Given the description of an element on the screen output the (x, y) to click on. 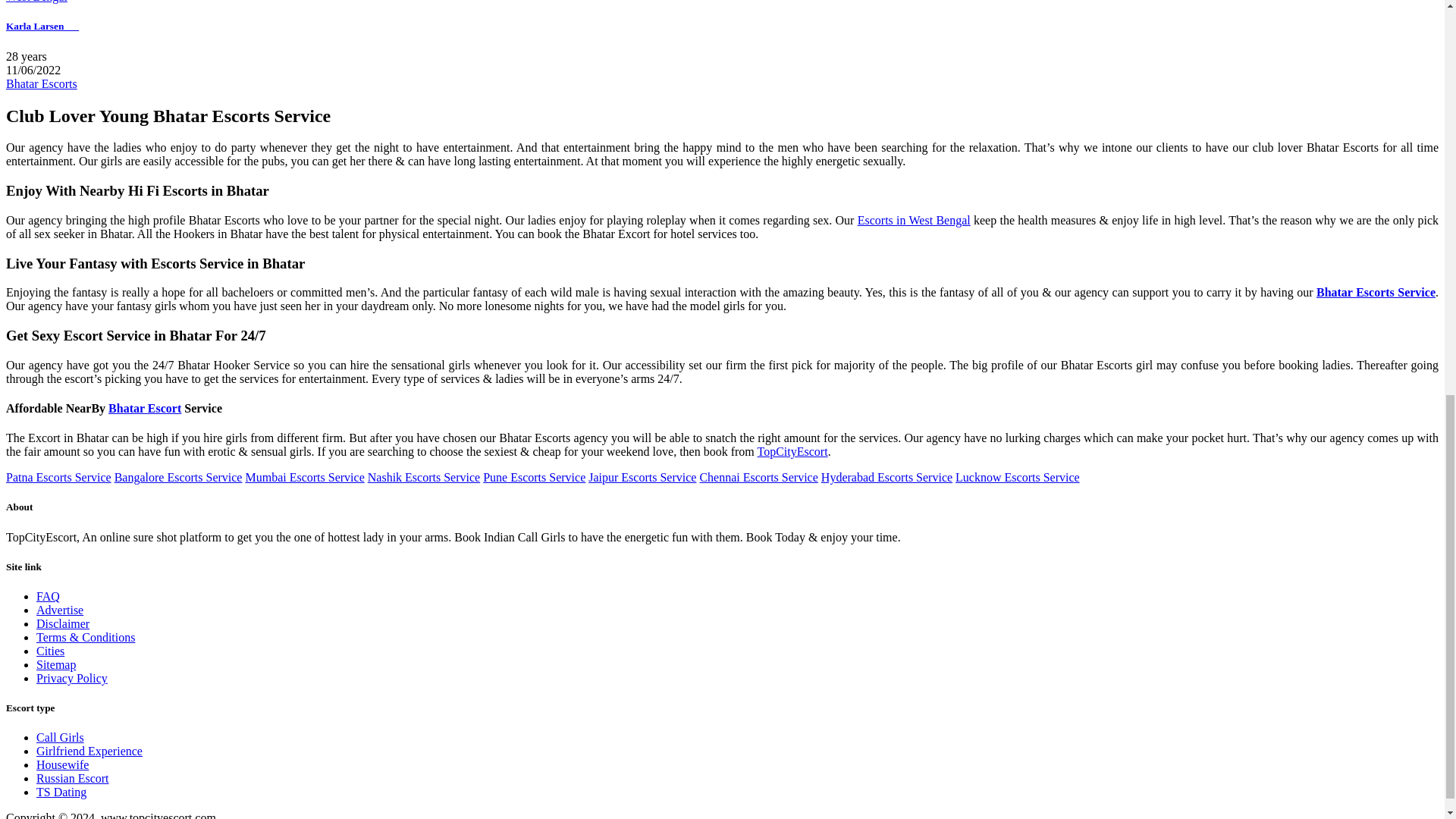
Russian Escort (72, 778)
Bhatar Escort (143, 408)
TS Dating (60, 791)
Chennai Escorts Service (757, 477)
Bangalore Escorts Service (179, 477)
Sitemap (55, 664)
Cities (50, 650)
Karla Larsen (41, 25)
Privacy Policy (71, 677)
Patna Escorts Service (58, 477)
Jaipur Escorts Service (641, 477)
Advertise (59, 609)
TopCityEscort (792, 451)
FAQ (47, 595)
Escorts in West Bengal (914, 219)
